Given the description of an element on the screen output the (x, y) to click on. 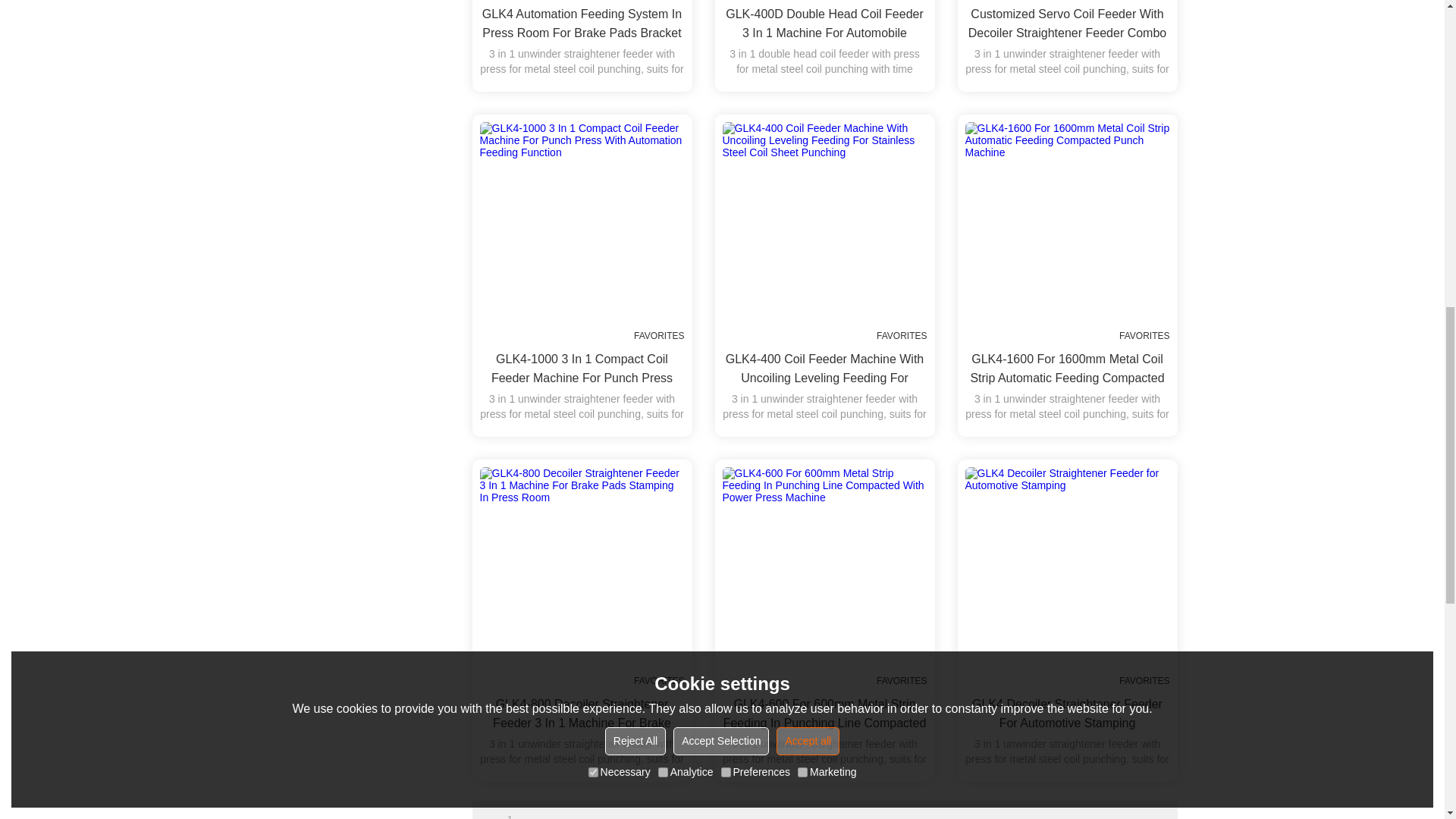
FAVORITES (658, 0)
